Given the description of an element on the screen output the (x, y) to click on. 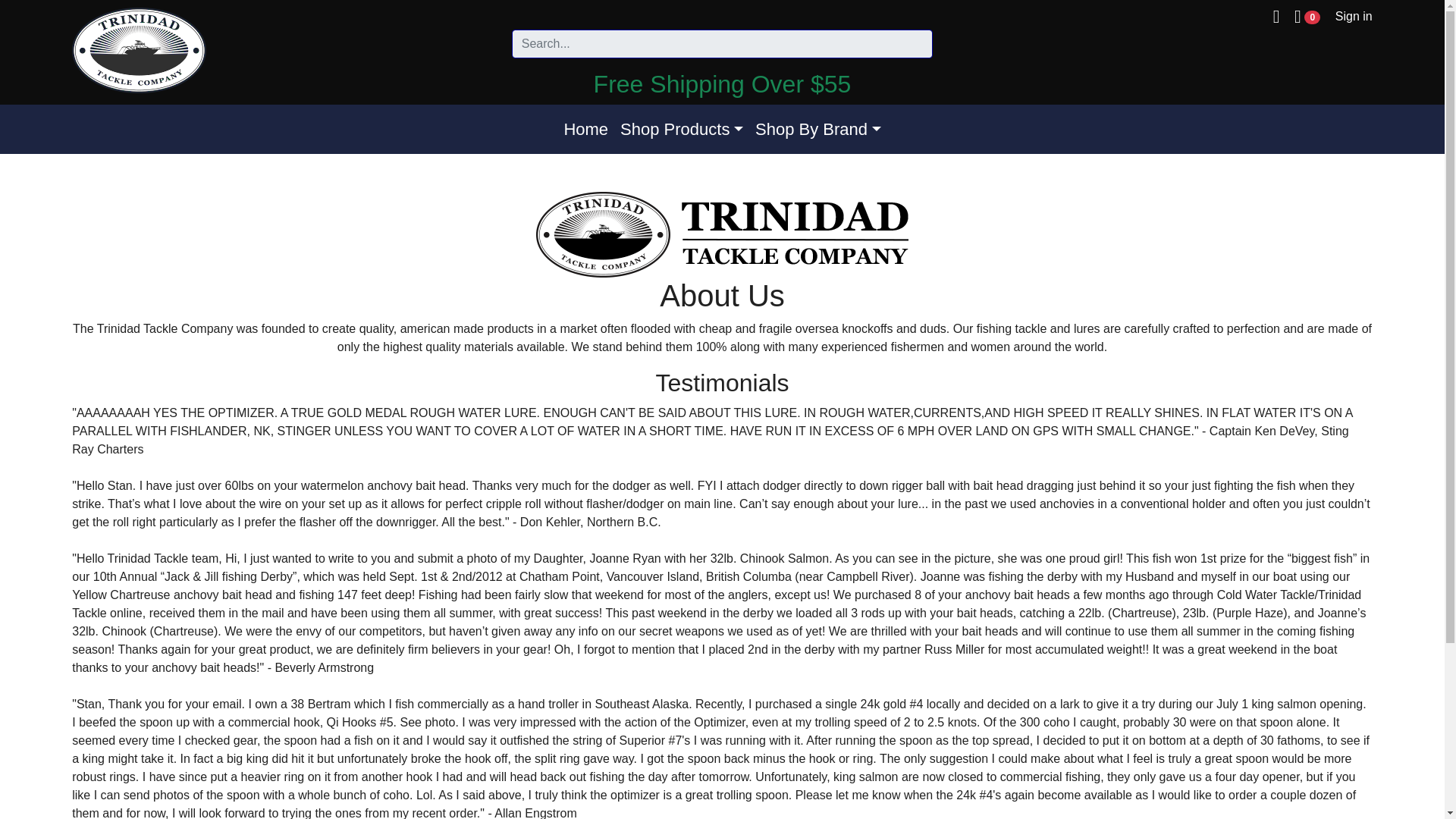
Home (585, 129)
Sign in (1354, 15)
Go back to Stephen's Truck Center home page (138, 49)
Shop By Brand (817, 129)
Shop Products (681, 129)
